Given the description of an element on the screen output the (x, y) to click on. 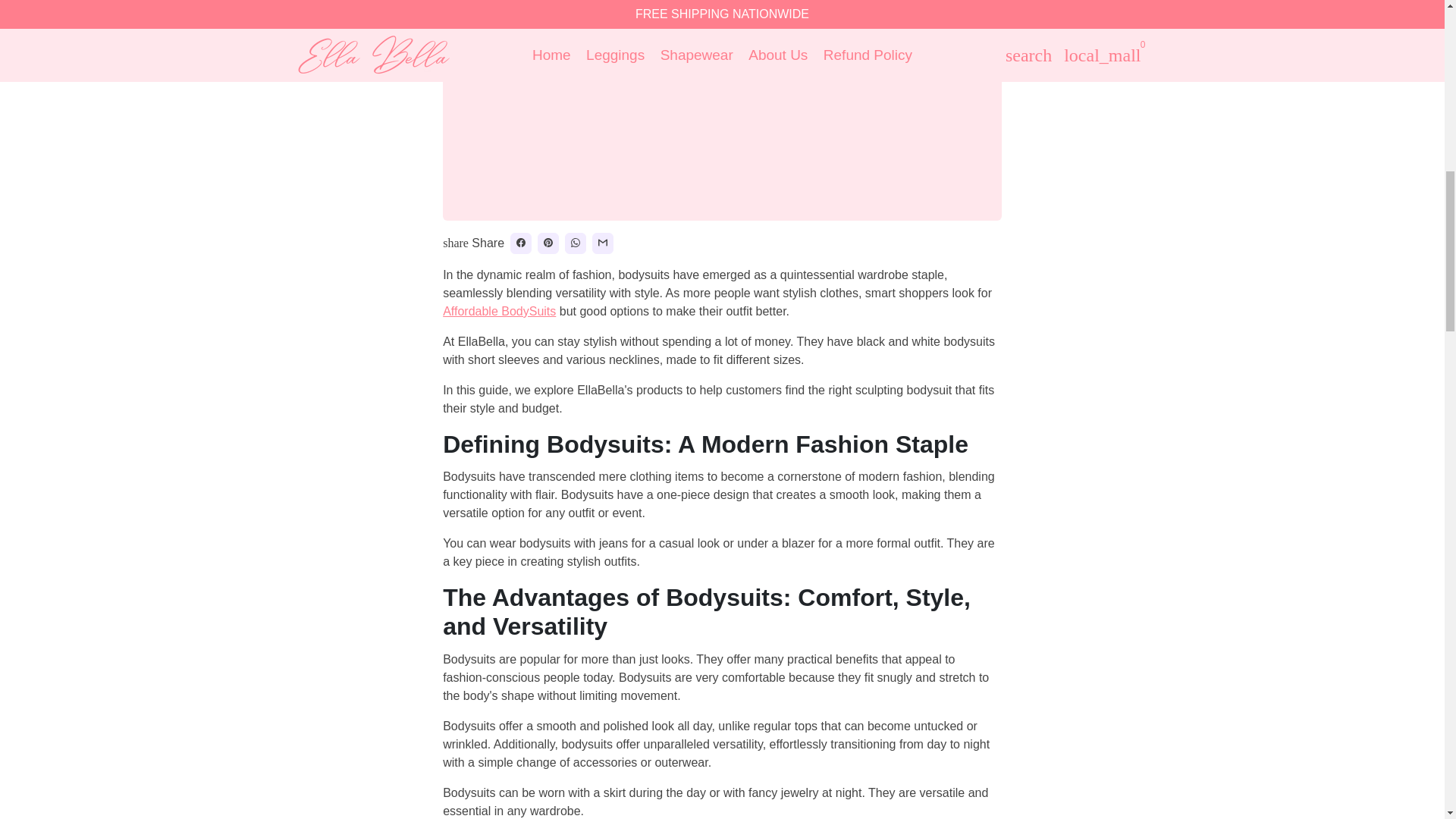
Affordable BodySuits (499, 310)
Share by Email (602, 242)
Share on Facebook (521, 242)
Share on Whatsapp (575, 242)
Pin on Pinterest (548, 242)
